Given the description of an element on the screen output the (x, y) to click on. 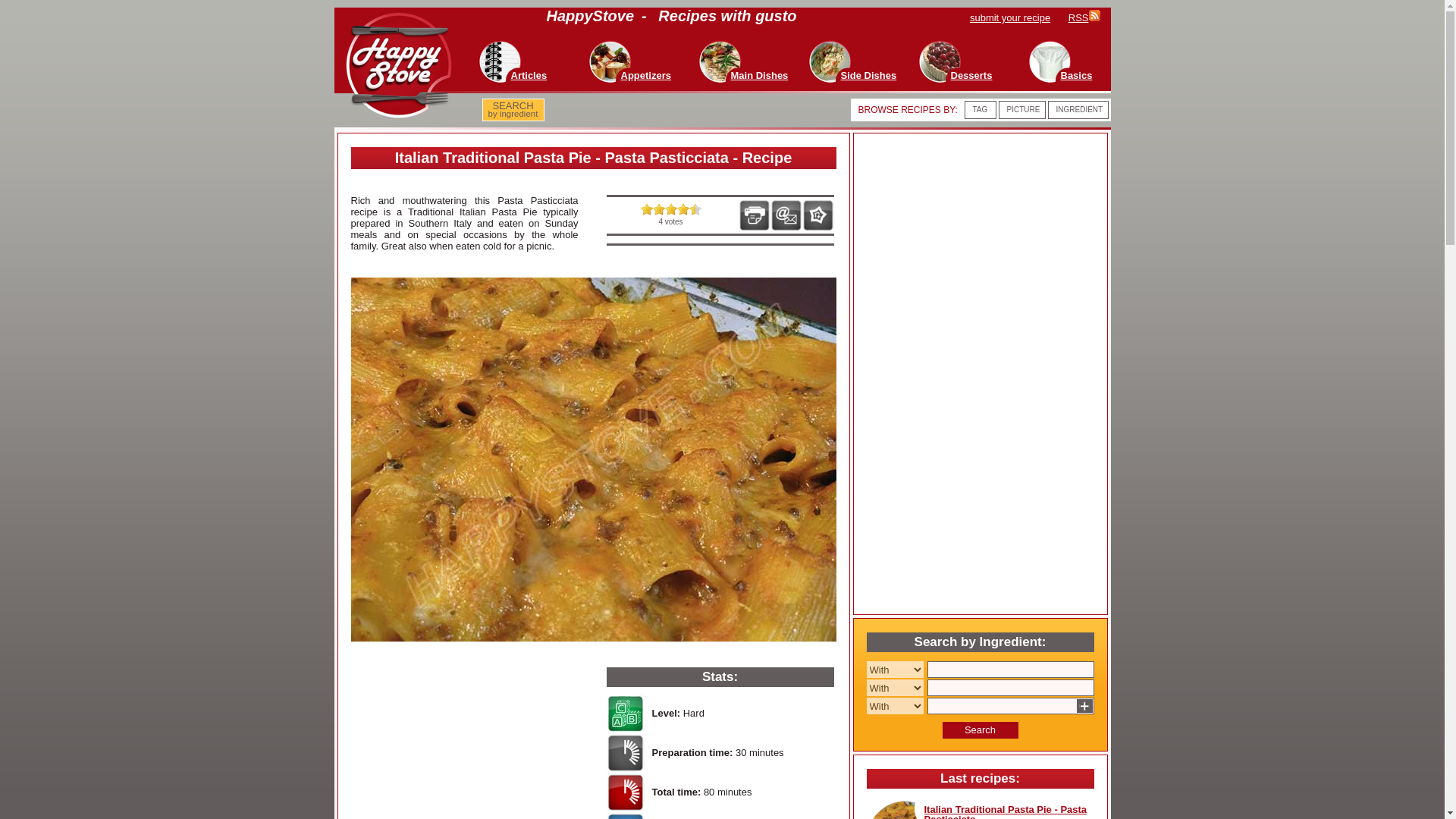
RSS (1084, 17)
PICTURE (1024, 108)
Current rating 4.25 (682, 209)
Search recipes by ingredient (512, 109)
Current rating 4.25 (694, 209)
Print this page (754, 214)
Basics (1075, 75)
Desserts (971, 75)
Current rating 4.25 (646, 209)
Email this page (786, 214)
